Given the description of an element on the screen output the (x, y) to click on. 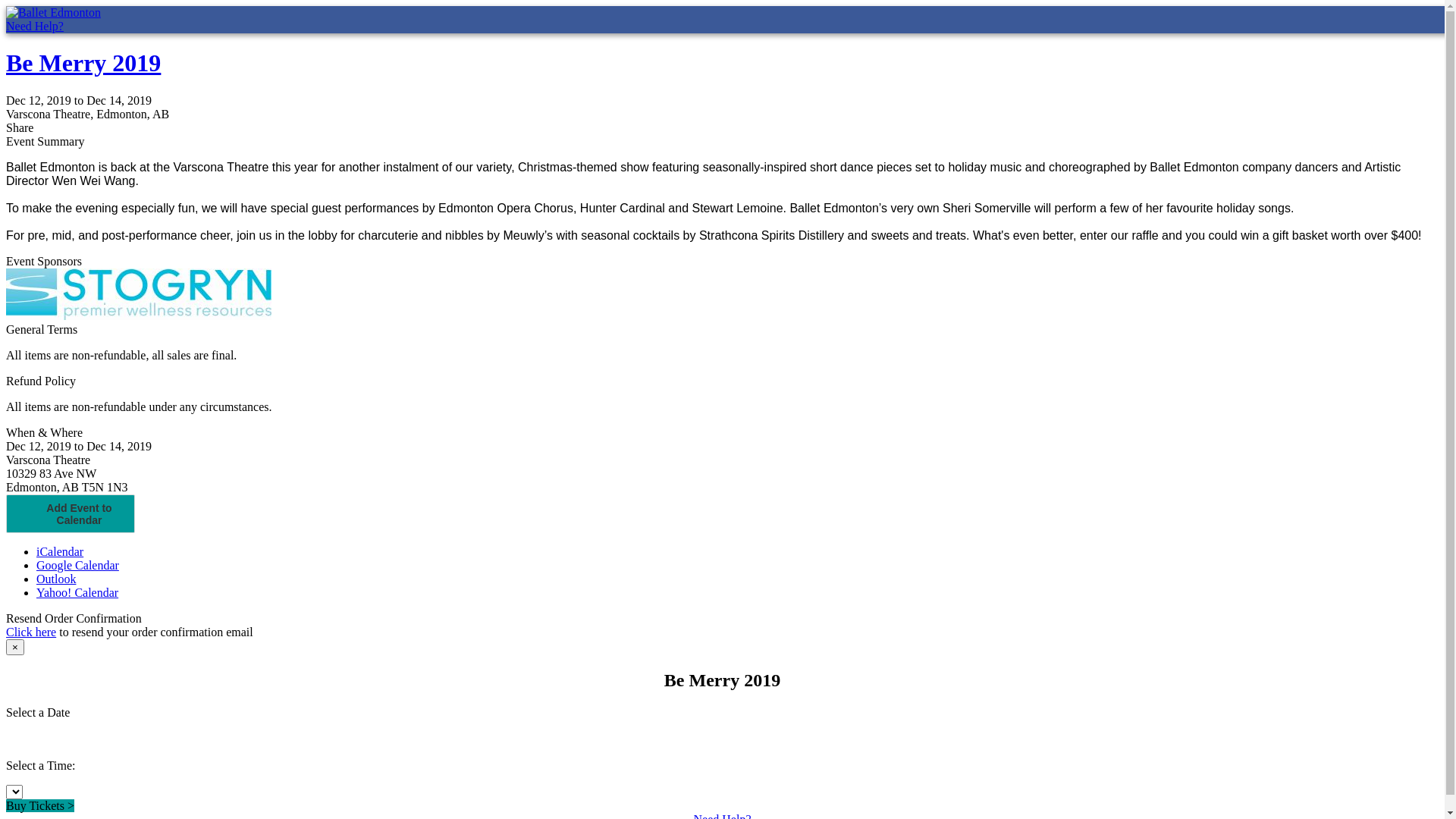
iCalendar Element type: text (59, 551)
Outlook Element type: text (55, 578)
Buy Tickets > Element type: text (40, 805)
Google Calendar Element type: text (77, 564)
Yahoo! Calendar Element type: text (77, 592)
Need Help? Element type: text (34, 25)
Be Merry 2019 Element type: text (83, 62)
Click here Element type: text (31, 631)
Add Event to Calendar Element type: text (70, 513)
